Given the description of an element on the screen output the (x, y) to click on. 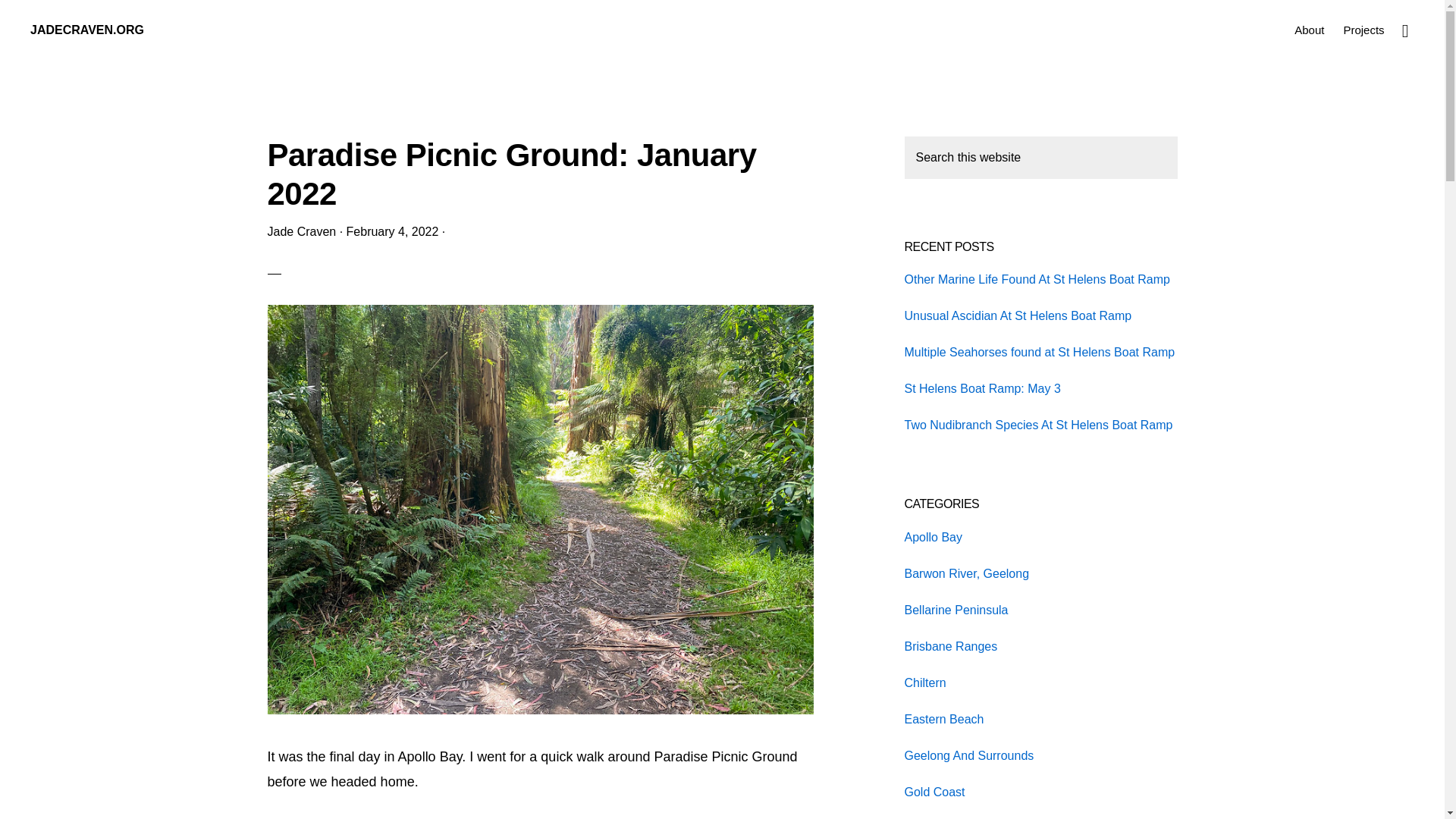
Jade Craven (301, 231)
Projects (1363, 29)
JADECRAVEN.ORG (87, 29)
Other Marine Life Found At St Helens Boat Ramp (1036, 278)
Unusual Ascidian At St Helens Boat Ramp (1017, 315)
About (1309, 29)
